Given the description of an element on the screen output the (x, y) to click on. 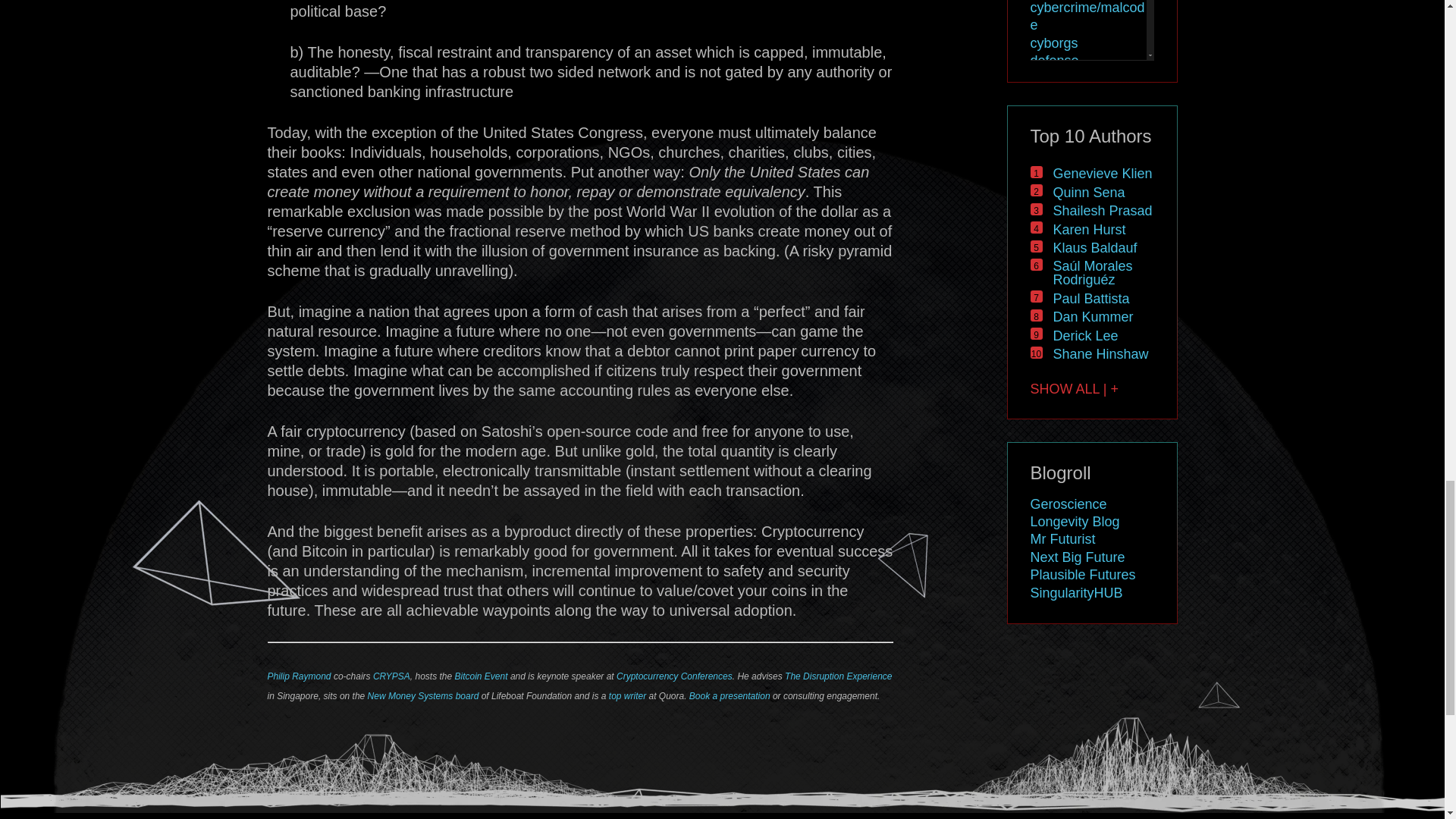
1200 posts by Shane Hinshaw (1100, 353)
2091 posts by Paul Battista (1090, 298)
5197 posts by Shailesh Prasad (1101, 210)
2590 posts by Klaus Baldauf (1094, 247)
1654 posts by Dan Kummer (1092, 316)
9057 posts by Quinn Sena (1088, 192)
1371 posts by Derick Lee (1085, 335)
4292 posts by Karen Hurst (1088, 229)
11714 posts by Genevieve Klien (1101, 173)
